Given the description of an element on the screen output the (x, y) to click on. 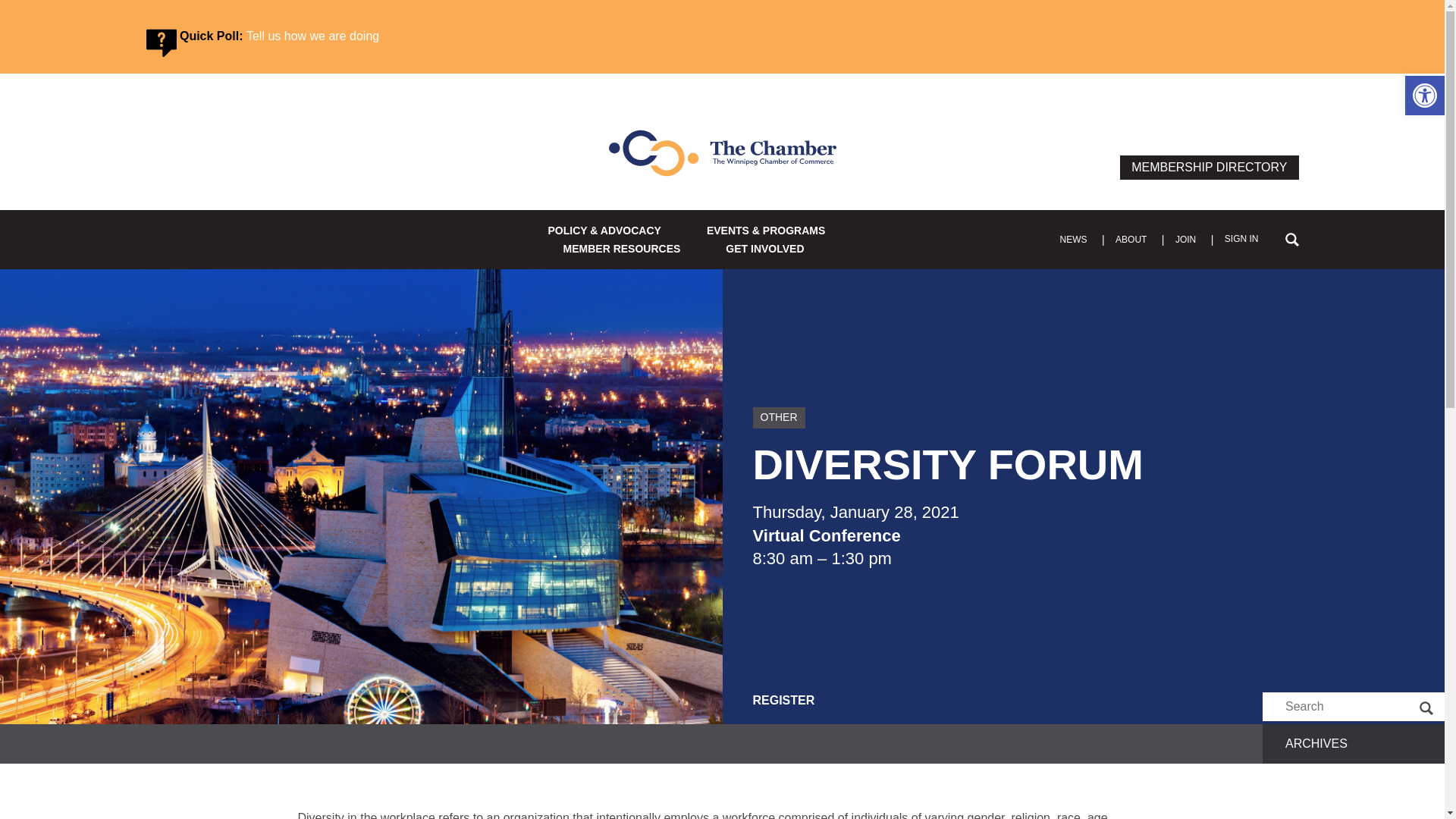
Accessibility Tools (1424, 95)
MEMBERSHIP DIRECTORY (1208, 167)
Tell us how we are doing (312, 35)
MEMBER RESOURCES (622, 248)
GET INVOLVED (763, 248)
